Given the description of an element on the screen output the (x, y) to click on. 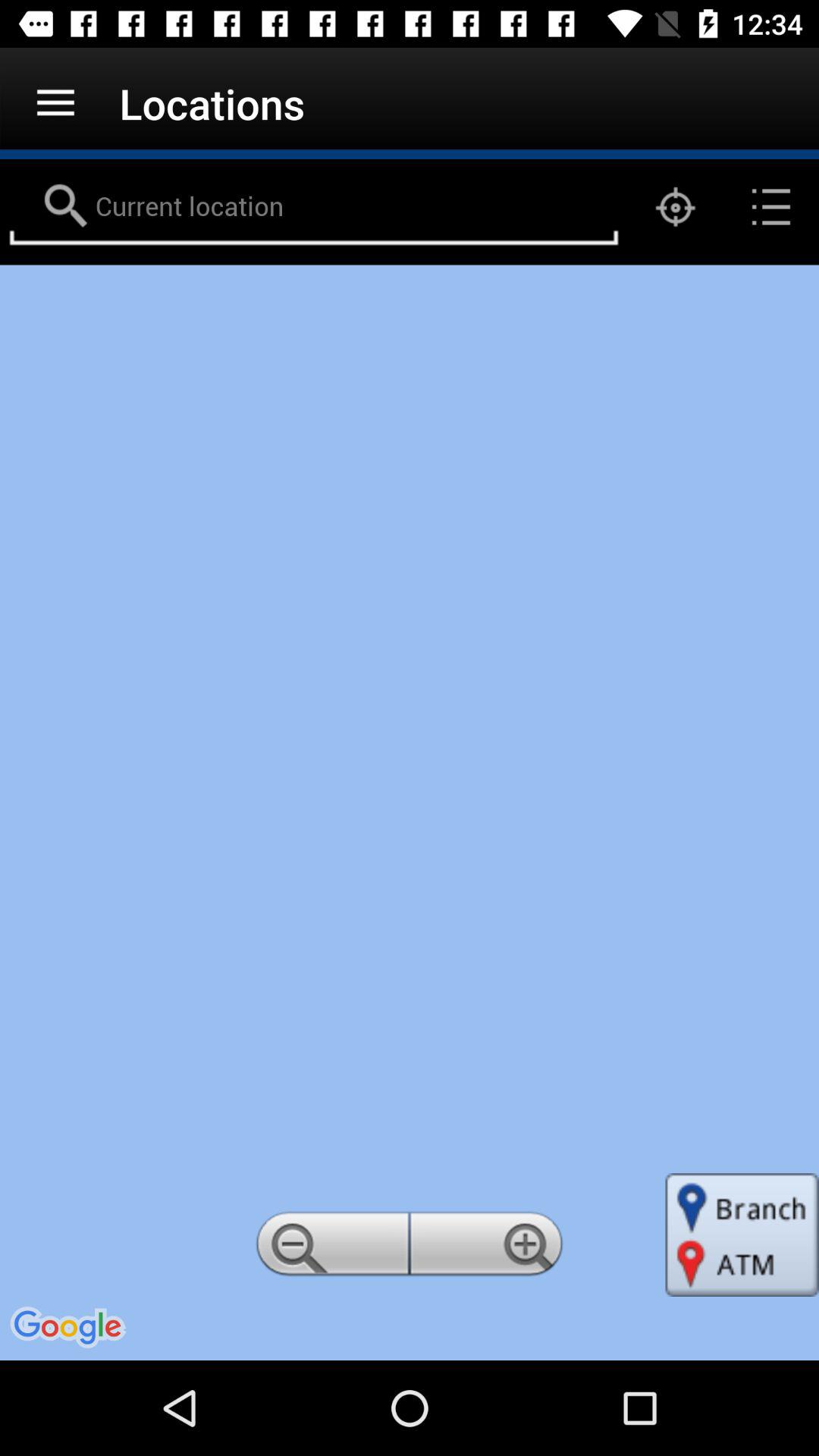
zoom (488, 1248)
